Given the description of an element on the screen output the (x, y) to click on. 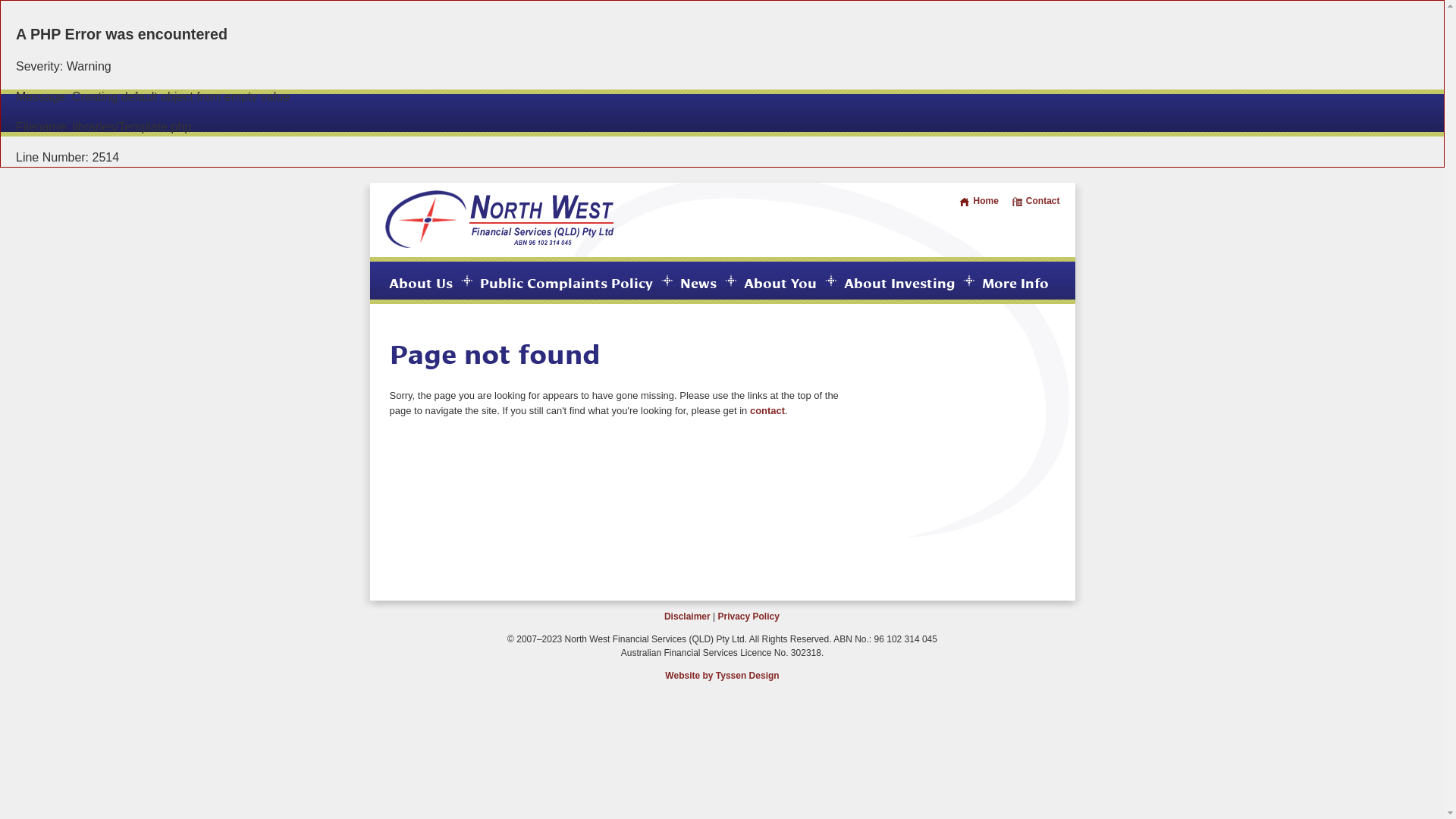
About Investing Element type: text (898, 281)
contact Element type: text (766, 410)
Return to the North West Financial Services home page Element type: hover (499, 244)
Privacy Policy Element type: text (747, 616)
More Info Element type: text (1014, 281)
News Element type: text (697, 281)
About You Element type: text (779, 281)
Public Complaints Policy Element type: text (565, 281)
Website by Tyssen Design Element type: text (721, 675)
Disclaimer Element type: text (687, 616)
Home Element type: text (978, 200)
About Us Element type: text (419, 281)
Contact Element type: text (1036, 200)
